Given the description of an element on the screen output the (x, y) to click on. 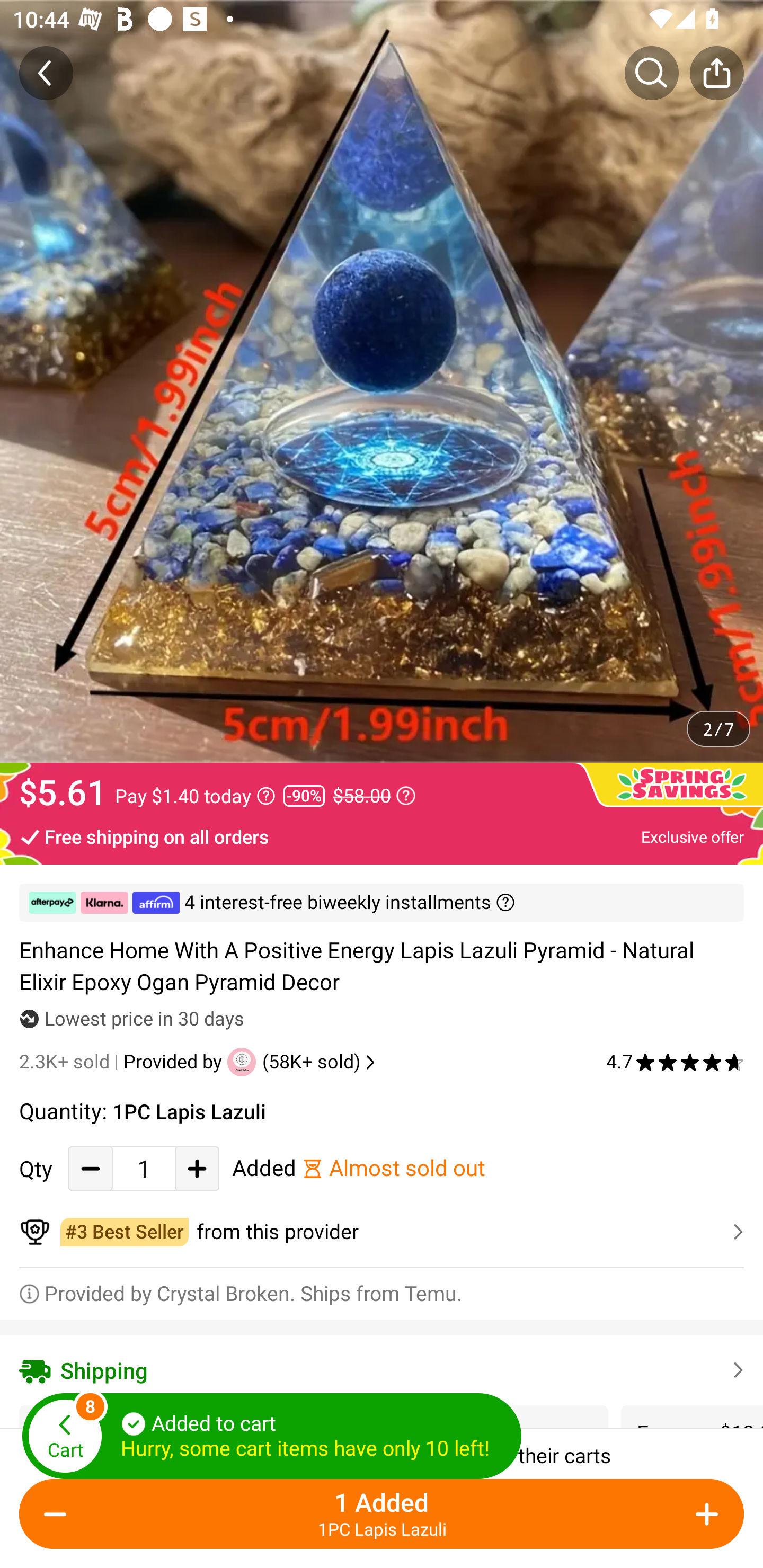
Back (46, 72)
Share (716, 72)
Pay $1.40 today   (195, 795)
Free shipping on all orders Exclusive offer (381, 836)
￼ ￼ ￼ 4 interest-free biweekly installments ￼ (381, 902)
2.3K+ sold Provided by  (123, 1061)
4.7 (674, 1061)
Decrease Quantity Button (90, 1168)
1 (143, 1168)
Add Quantity button (196, 1168)
￼￼from this provider (381, 1231)
Shipping (381, 1369)
Decrease Quantity Button (59, 1513)
Add Quantity button (703, 1513)
